Given the description of an element on the screen output the (x, y) to click on. 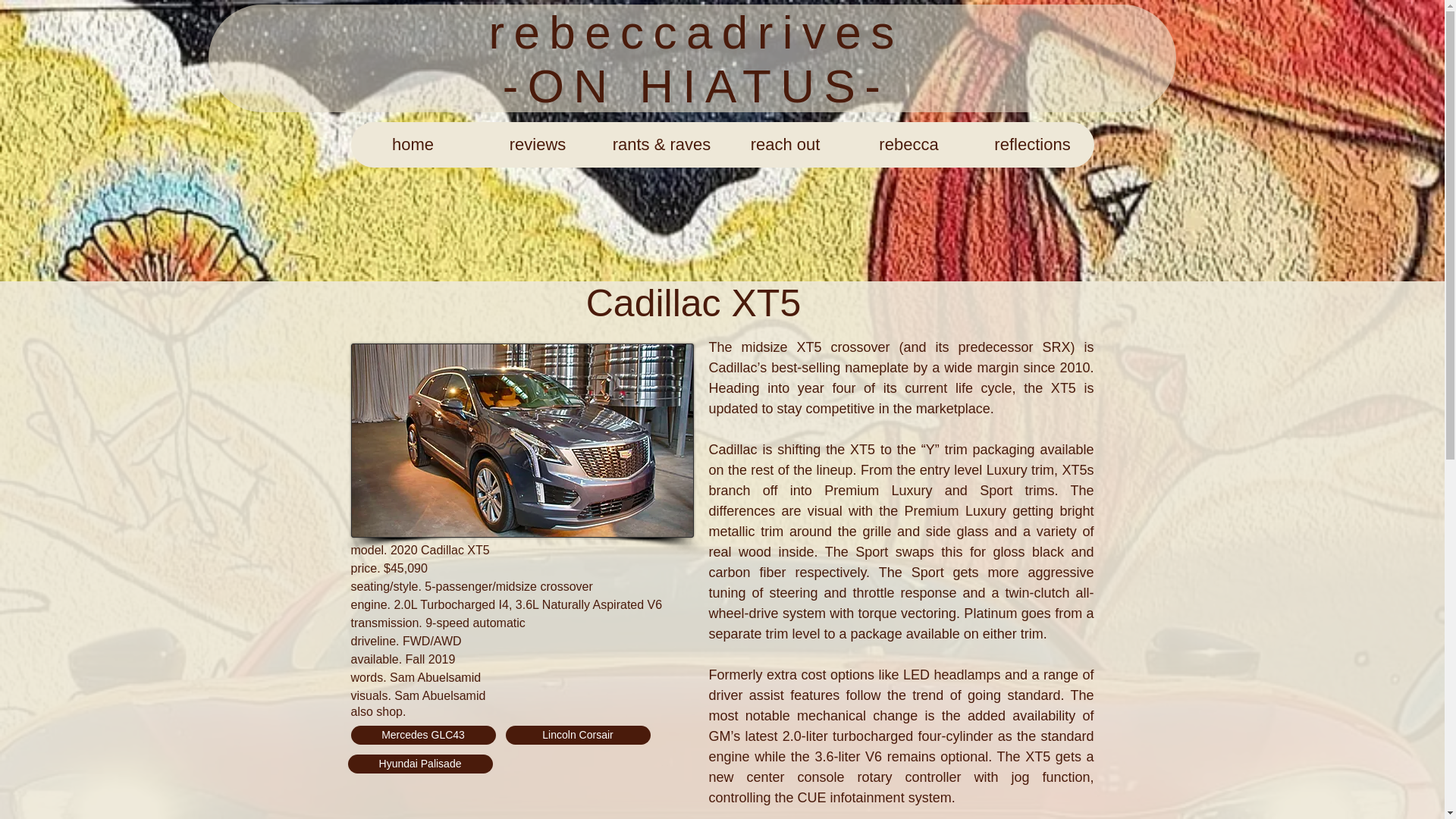
Lincoln Corsair (577, 734)
reflections (1032, 144)
rebecca (907, 144)
Hyundai Palisade (419, 763)
reviews (536, 144)
home (412, 144)
reach out (785, 144)
Mercedes GLC43 (422, 734)
Cadillac XT5 (521, 440)
